Given the description of an element on the screen output the (x, y) to click on. 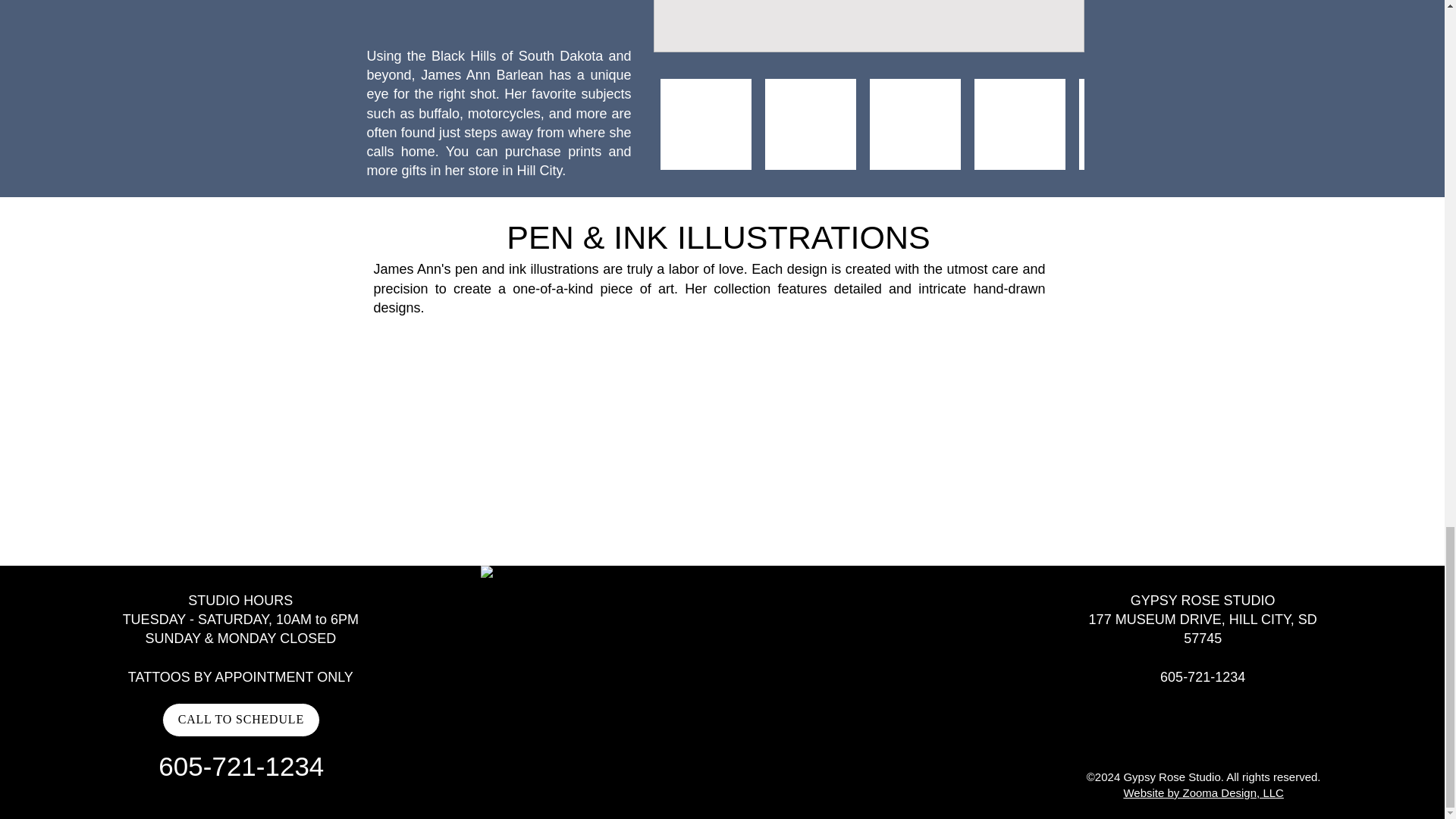
605-721-1234 (240, 766)
Website by Zooma Design, LLC (1203, 792)
605-721-1234 (1202, 676)
177 MUSEUM DRIVE, HILL CITY, SD 57745 (1203, 628)
CALL TO SCHEDULE (240, 719)
